Given the description of an element on the screen output the (x, y) to click on. 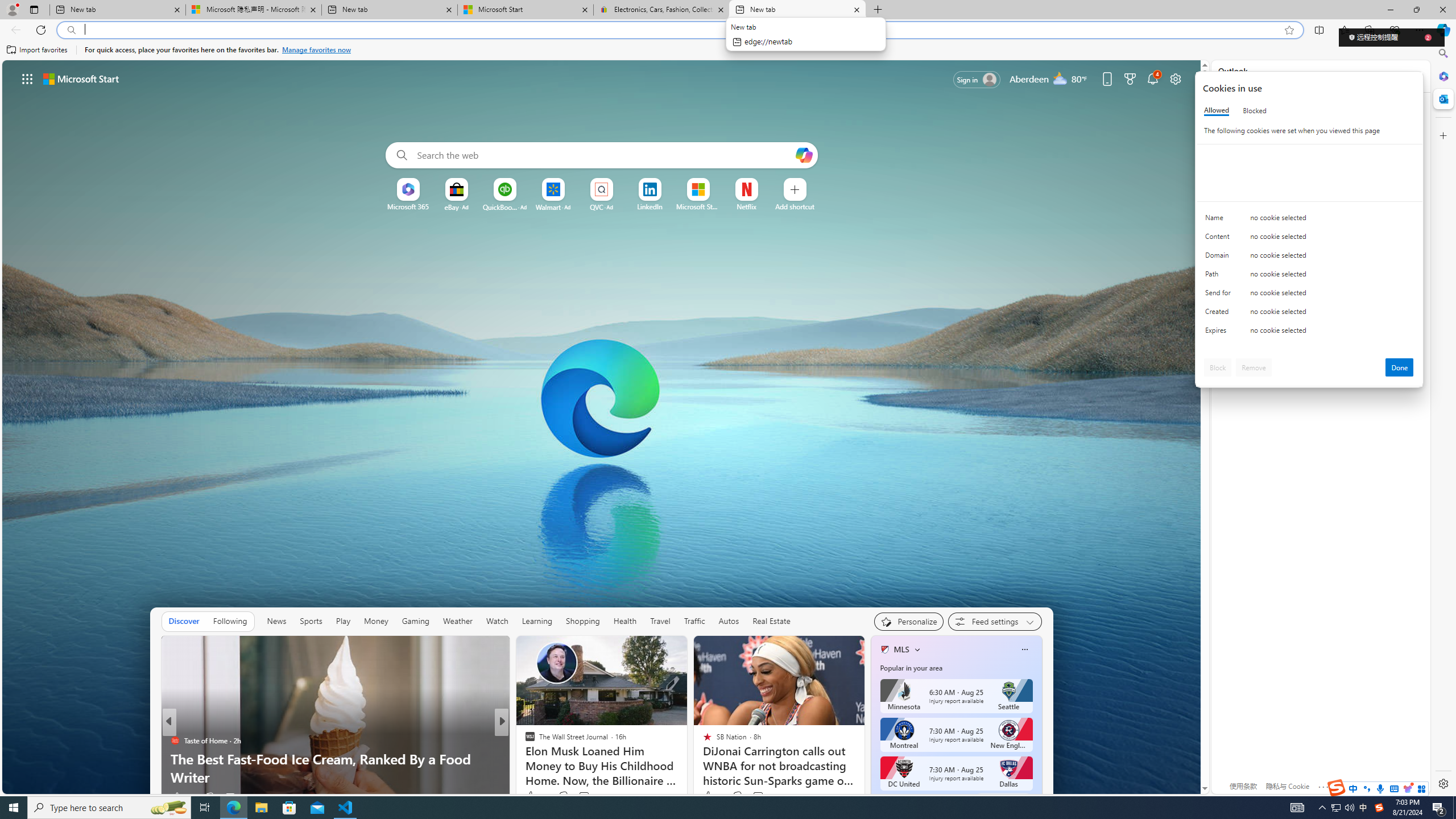
View comments 62 Comment (585, 796)
View comments 22 Comment (585, 796)
Weather (457, 621)
Shopping (582, 621)
Learning (537, 621)
322 Like (532, 796)
Start the conversation (577, 796)
Enter your search term (603, 155)
Domain (1219, 257)
Notifications (1152, 78)
